Given the description of an element on the screen output the (x, y) to click on. 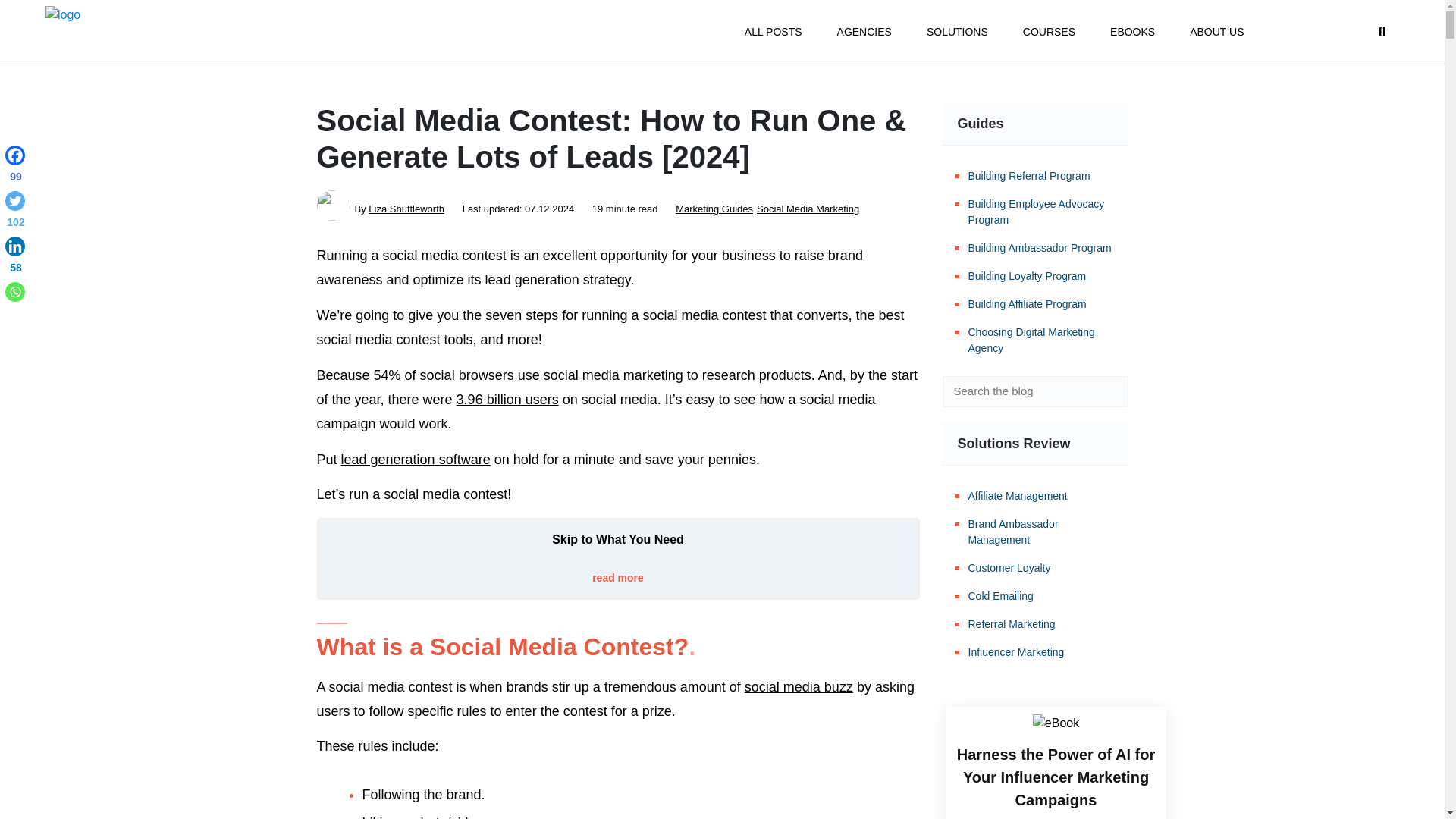
Search (1105, 391)
SOLUTIONS (957, 31)
Whatsapp (14, 291)
Twitter (14, 211)
ALL POSTS (772, 31)
Facebook (14, 166)
AGENCIES (864, 31)
Search (1105, 391)
Linkedin (14, 257)
